Given the description of an element on the screen output the (x, y) to click on. 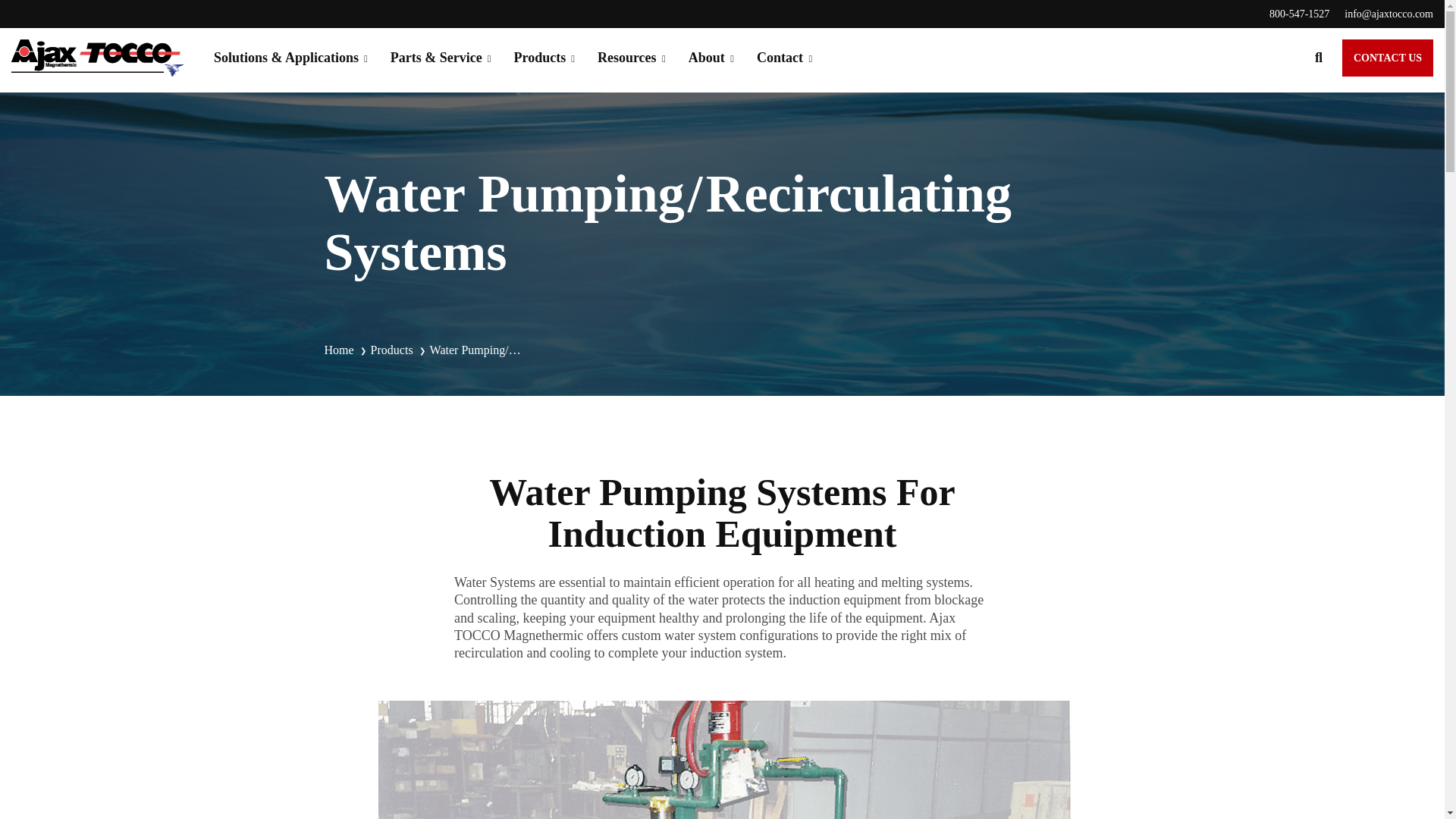
CONTACT US (1387, 57)
800-547-1527 (1291, 14)
